Given the description of an element on the screen output the (x, y) to click on. 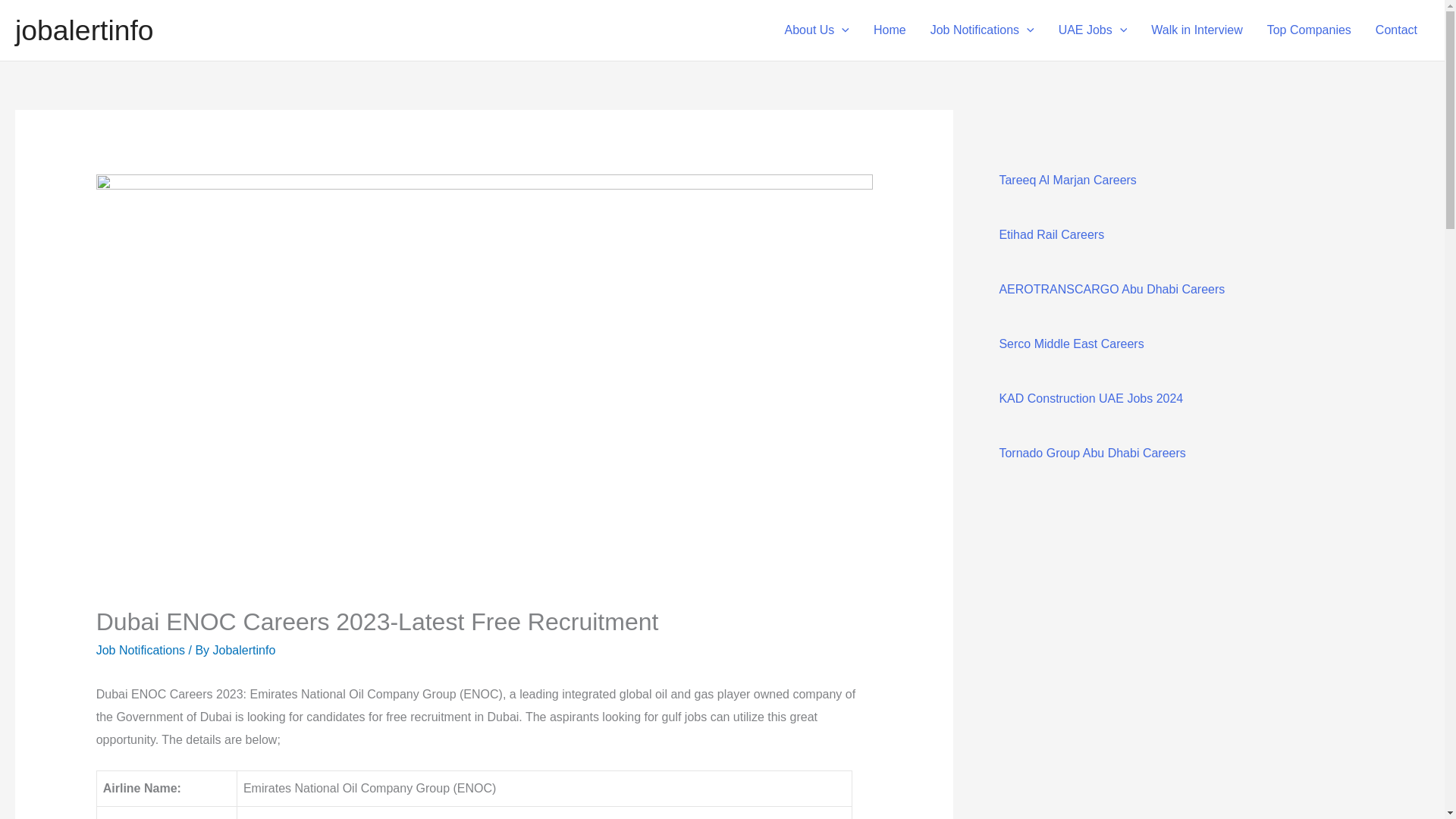
Walk in Interview (1195, 30)
Contact (1395, 30)
About Us (817, 30)
UAE Jobs (1093, 30)
Home (889, 30)
Job Notifications (982, 30)
jobalertinfo (84, 29)
Top Companies (1308, 30)
View all posts by Jobalertinfo (244, 649)
